Given the description of an element on the screen output the (x, y) to click on. 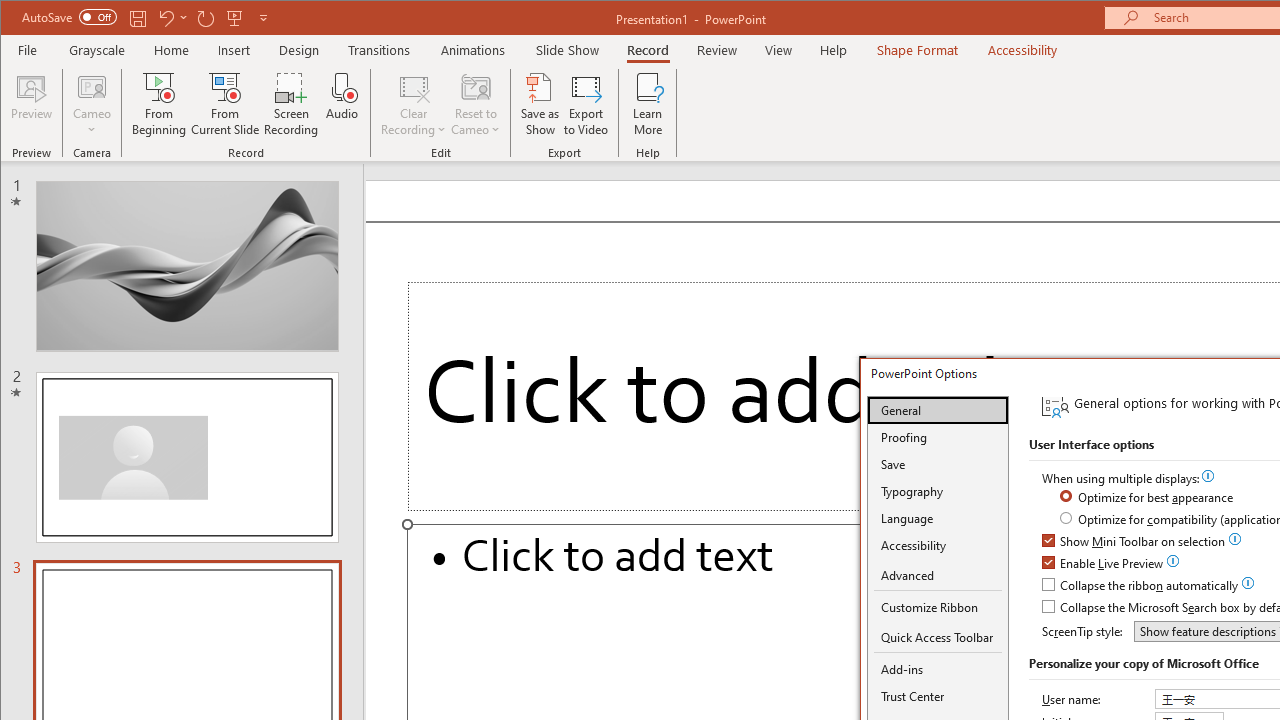
Proofing (937, 437)
Typography (937, 491)
Reset to Cameo (476, 104)
Show Mini Toolbar on selection (1134, 542)
Trust Center (937, 696)
Export to Video (585, 104)
